Given the description of an element on the screen output the (x, y) to click on. 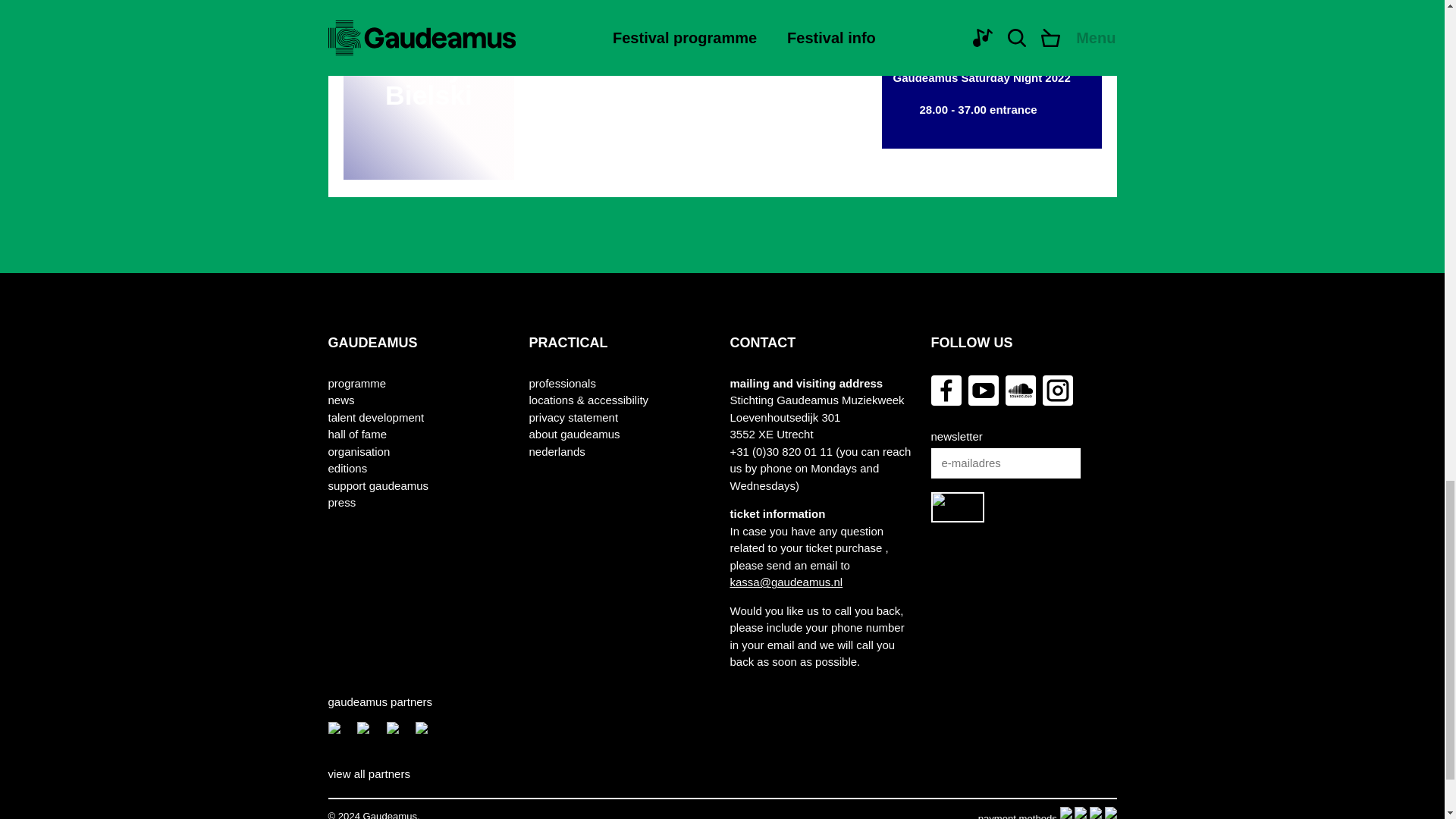
Gaudeamus on Youtube (982, 390)
programme (356, 384)
organisation (358, 452)
Jerzy Bielski (427, 105)
Gaudeamus on Facebook (946, 390)
news (340, 400)
Gaudeamus on Instagram (1056, 390)
support gaudeamus (377, 486)
professionals (562, 384)
Gaudeamus on Soundcloud (1020, 390)
